Given the description of an element on the screen output the (x, y) to click on. 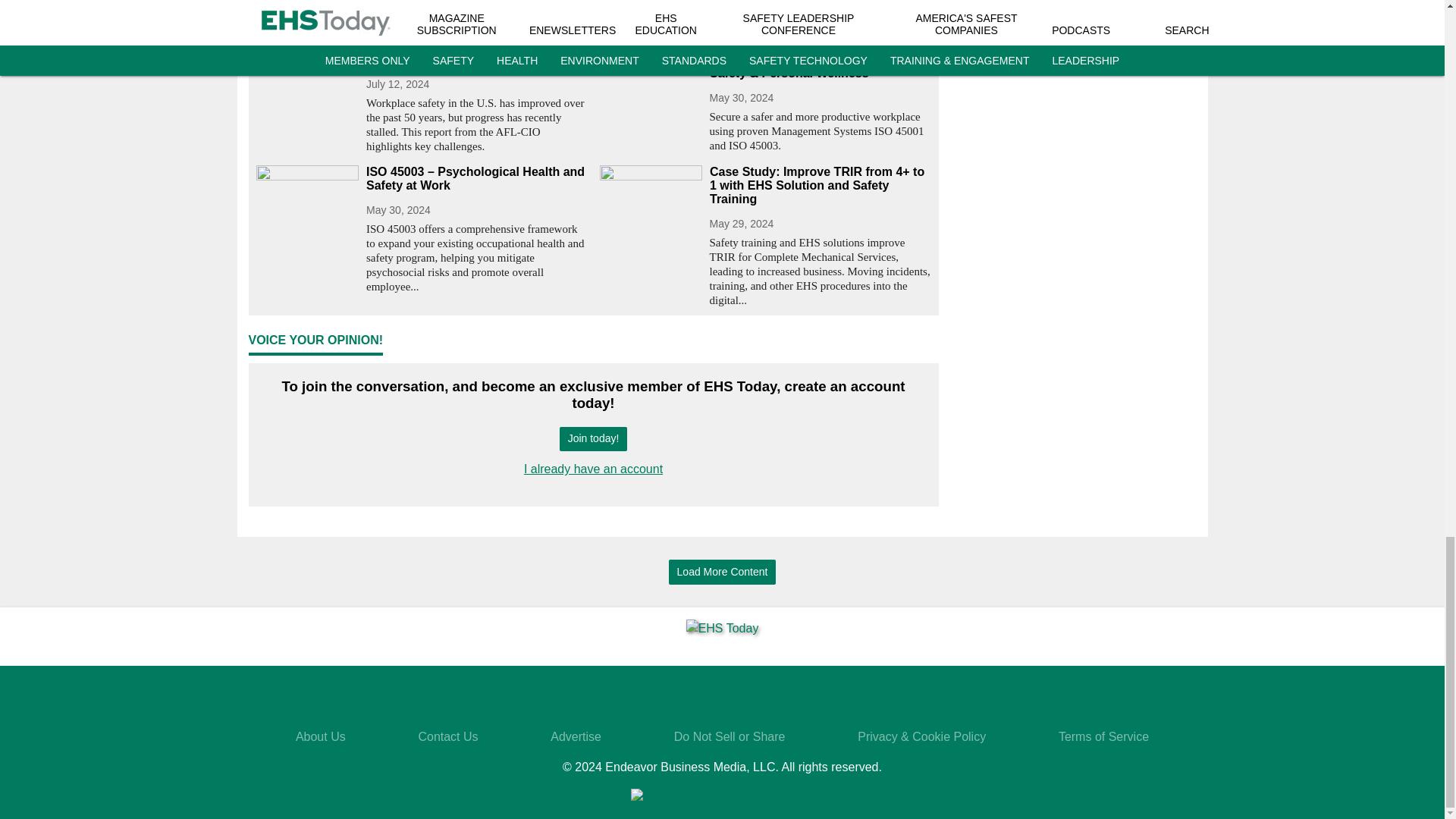
I already have an account (593, 468)
10 Facts About the State of Workplace Safety in the U.S. (476, 52)
Join today! (593, 439)
